Given the description of an element on the screen output the (x, y) to click on. 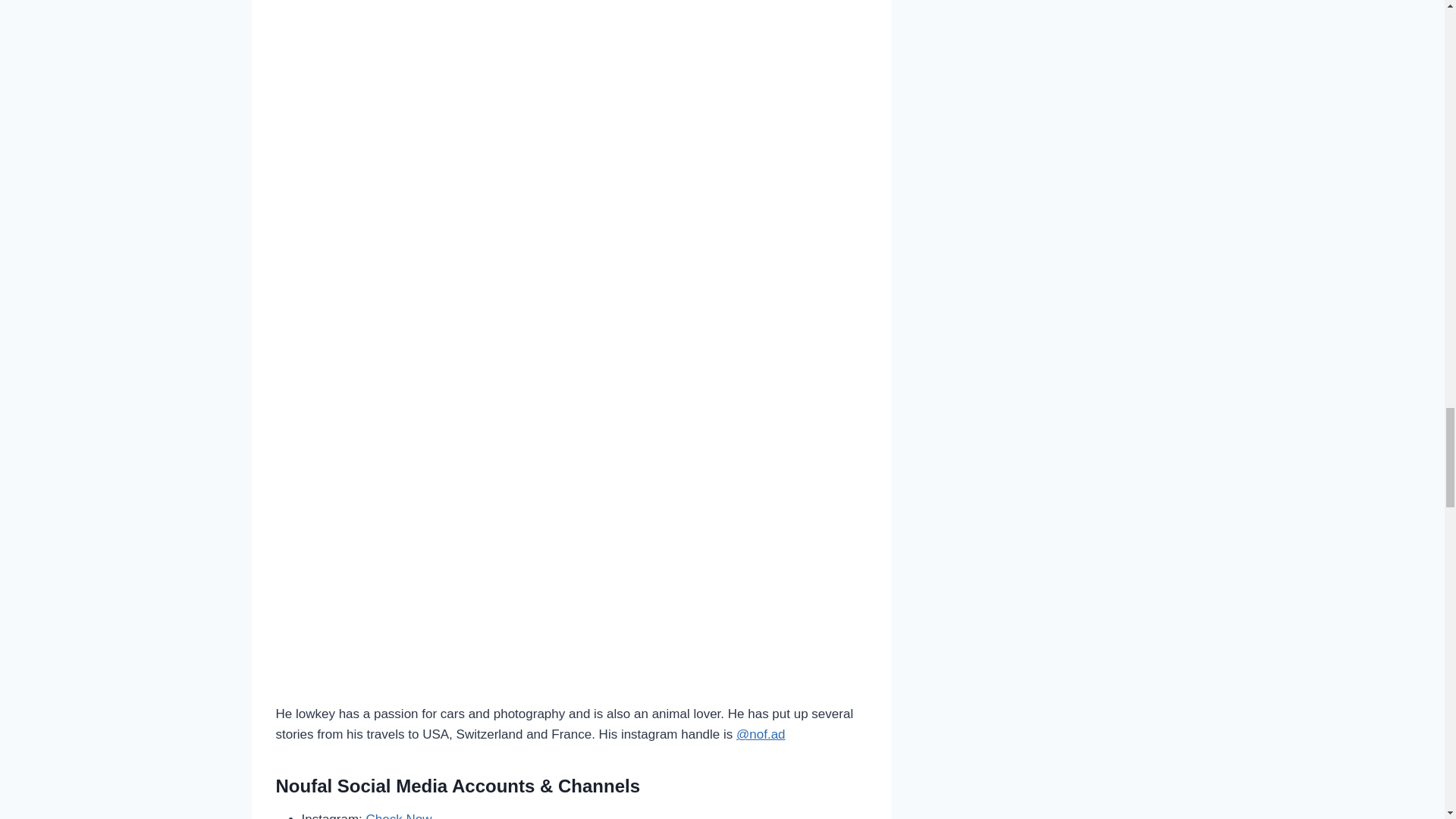
Check Now (399, 815)
